Given the description of an element on the screen output the (x, y) to click on. 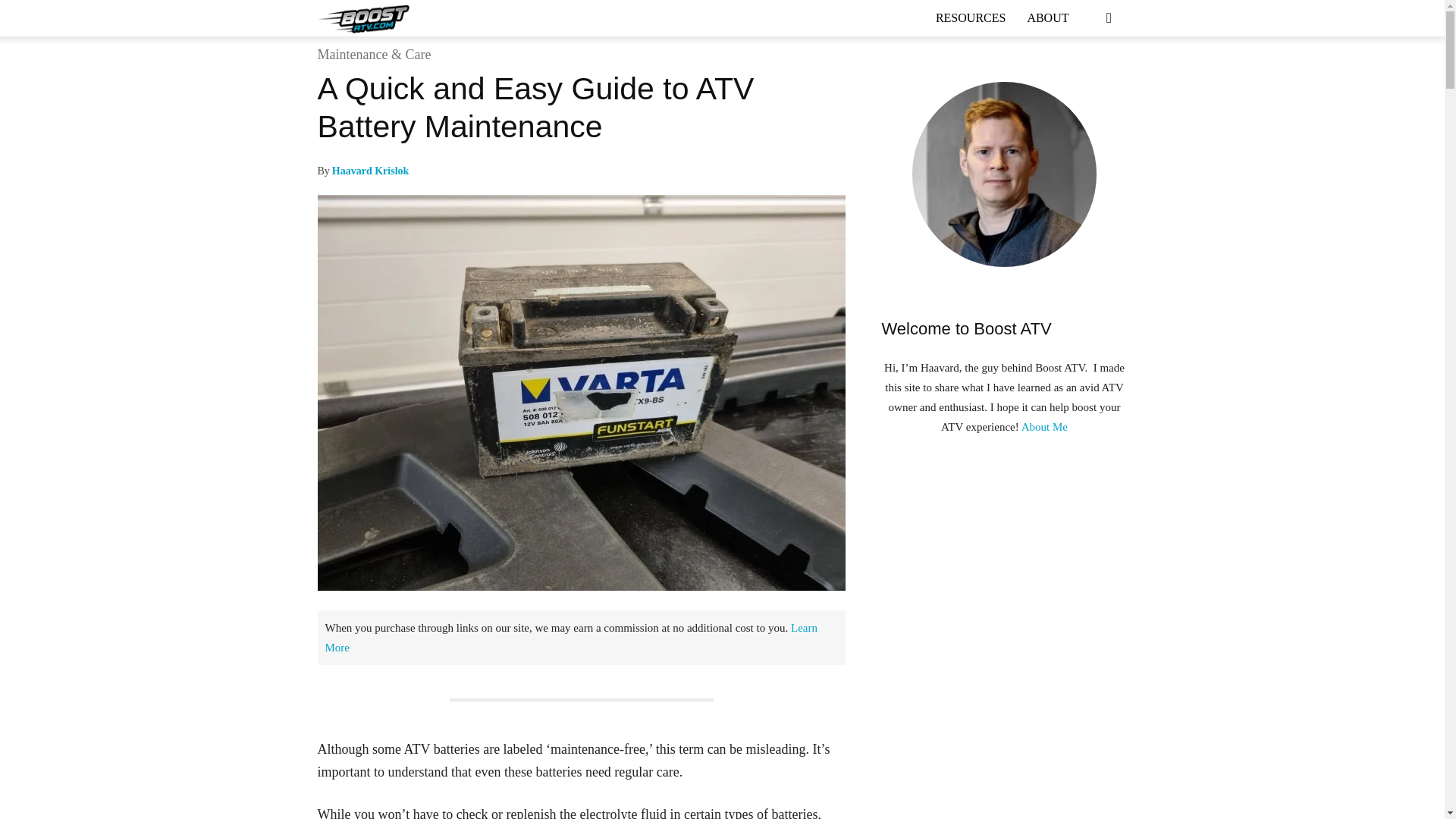
Search (1086, 78)
Haavard Krislok (370, 170)
ABOUT (1047, 18)
Learn More (570, 637)
RESOURCES (970, 18)
BoostATV.com (365, 18)
